Given the description of an element on the screen output the (x, y) to click on. 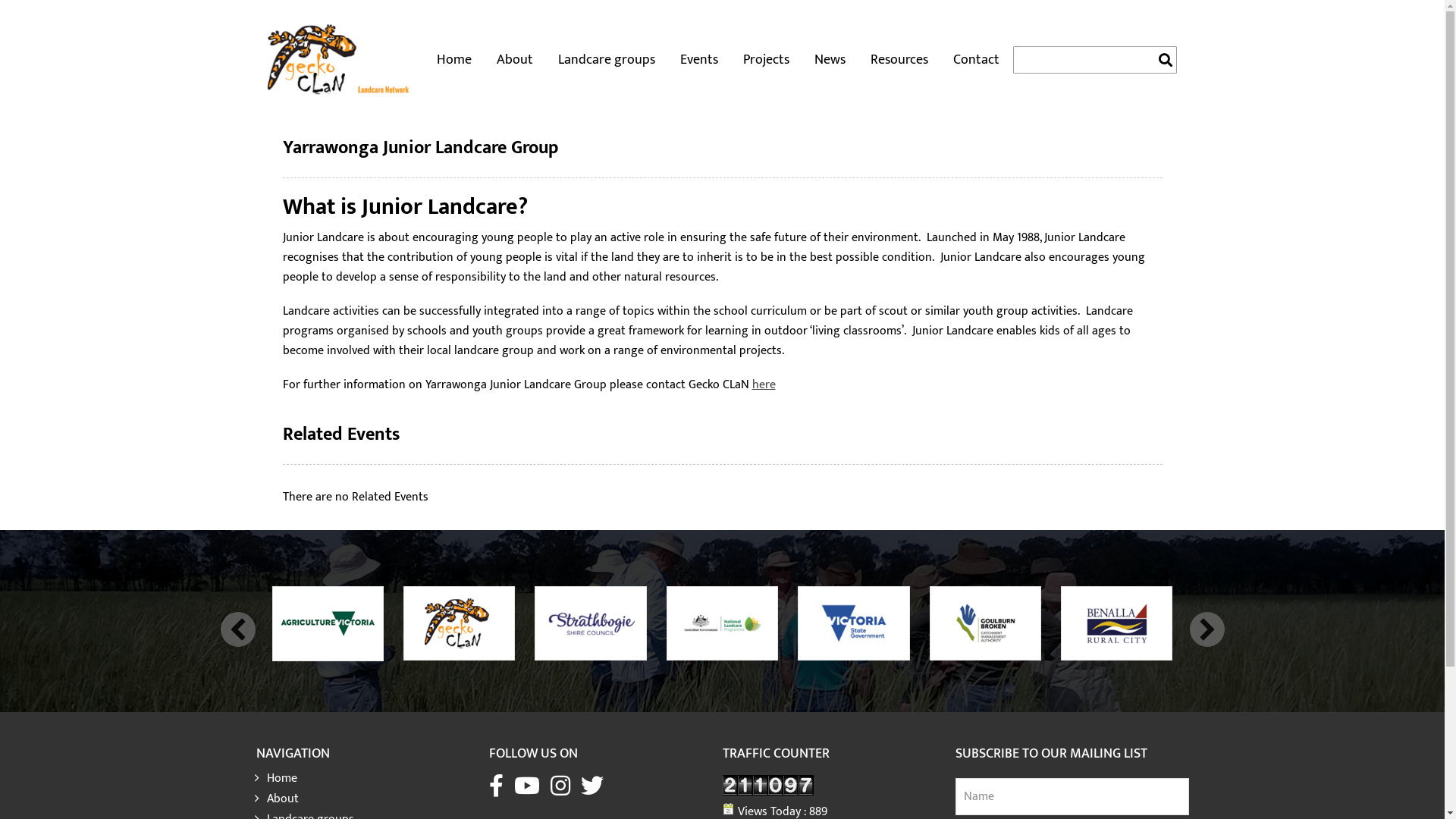
img1-3 Element type: hover (1116, 623)
img1-6 Element type: hover (853, 623)
About Element type: text (514, 59)
Strathbogie Council Logo Element type: hover (589, 623)
Projects Element type: text (766, 59)
img1-4 Element type: hover (985, 623)
img1-7 Element type: hover (721, 623)
Home Element type: text (376, 774)
Search Element type: text (1257, 64)
About Element type: text (376, 795)
agriculture-victoria Element type: hover (327, 623)
News Element type: text (829, 59)
Contact Element type: text (976, 59)
logo Element type: hover (337, 59)
Skip to main content Element type: text (15, 0)
Resources Element type: text (899, 59)
here Element type: text (763, 384)
Home Element type: text (453, 59)
Events Element type: text (699, 59)
Landcare groups Element type: text (606, 59)
geckologo Element type: hover (458, 623)
